Given the description of an element on the screen output the (x, y) to click on. 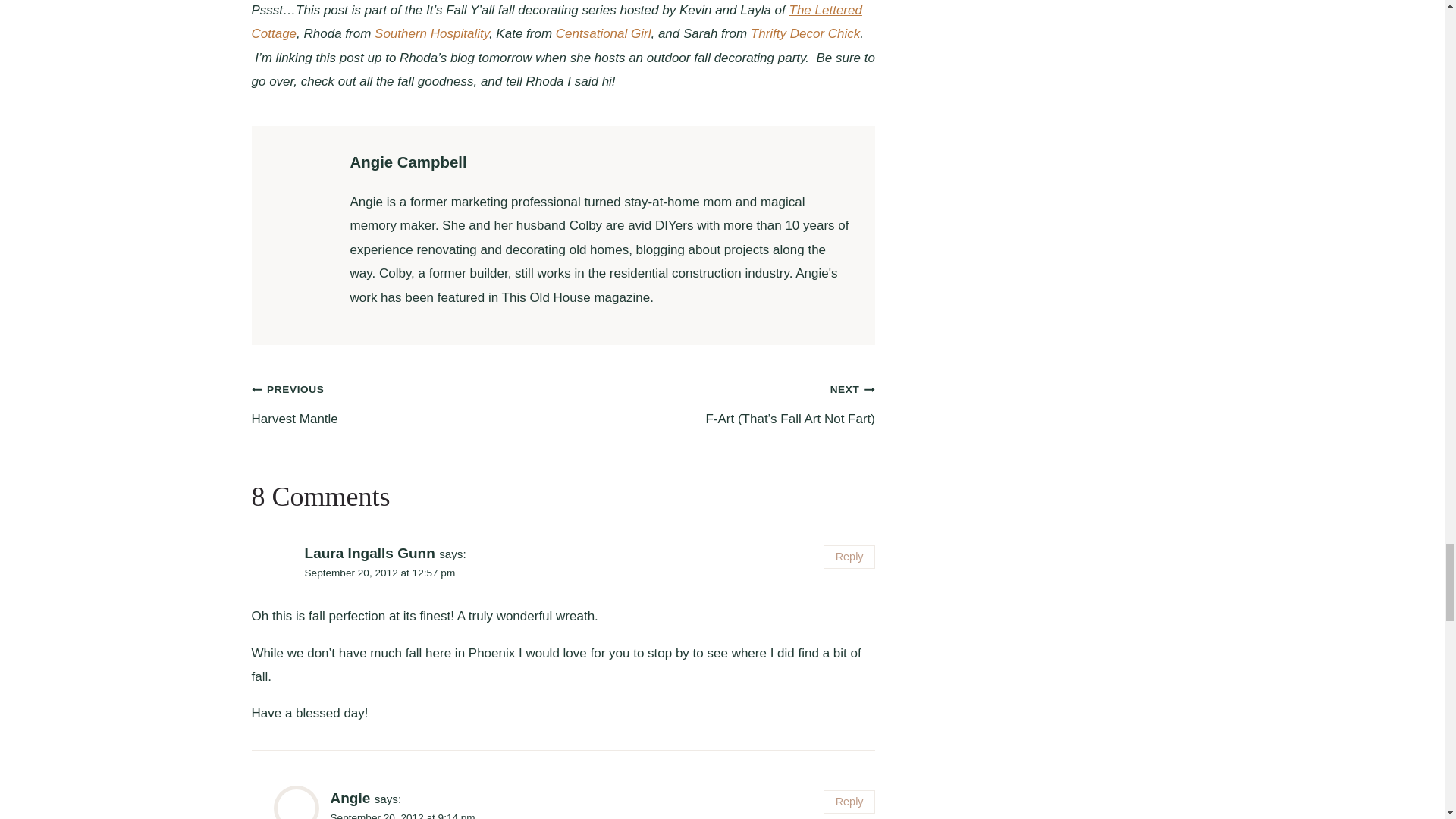
Posts by Angie Campbell (408, 161)
